Given the description of an element on the screen output the (x, y) to click on. 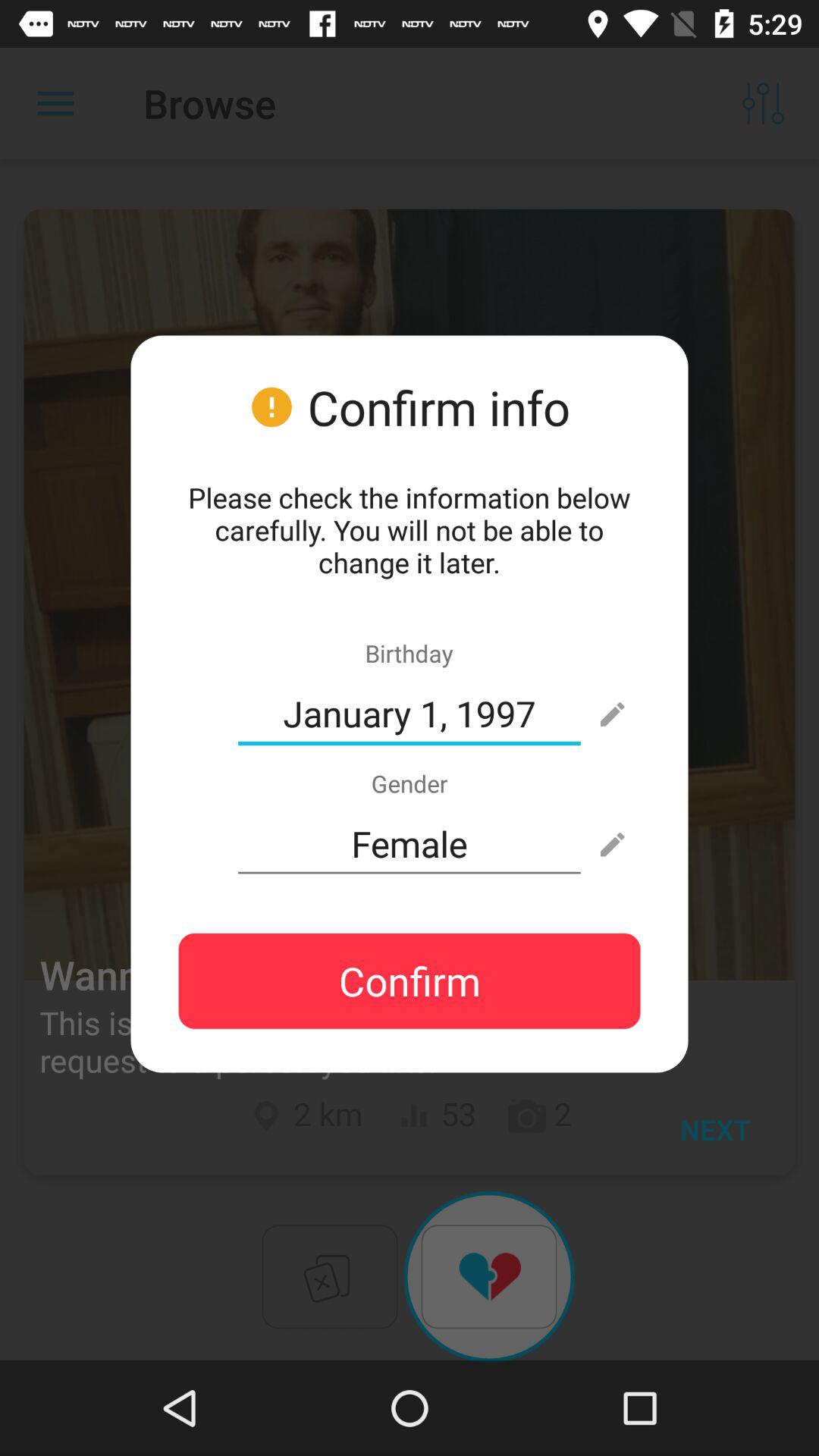
choose icon below birthday icon (409, 714)
